Given the description of an element on the screen output the (x, y) to click on. 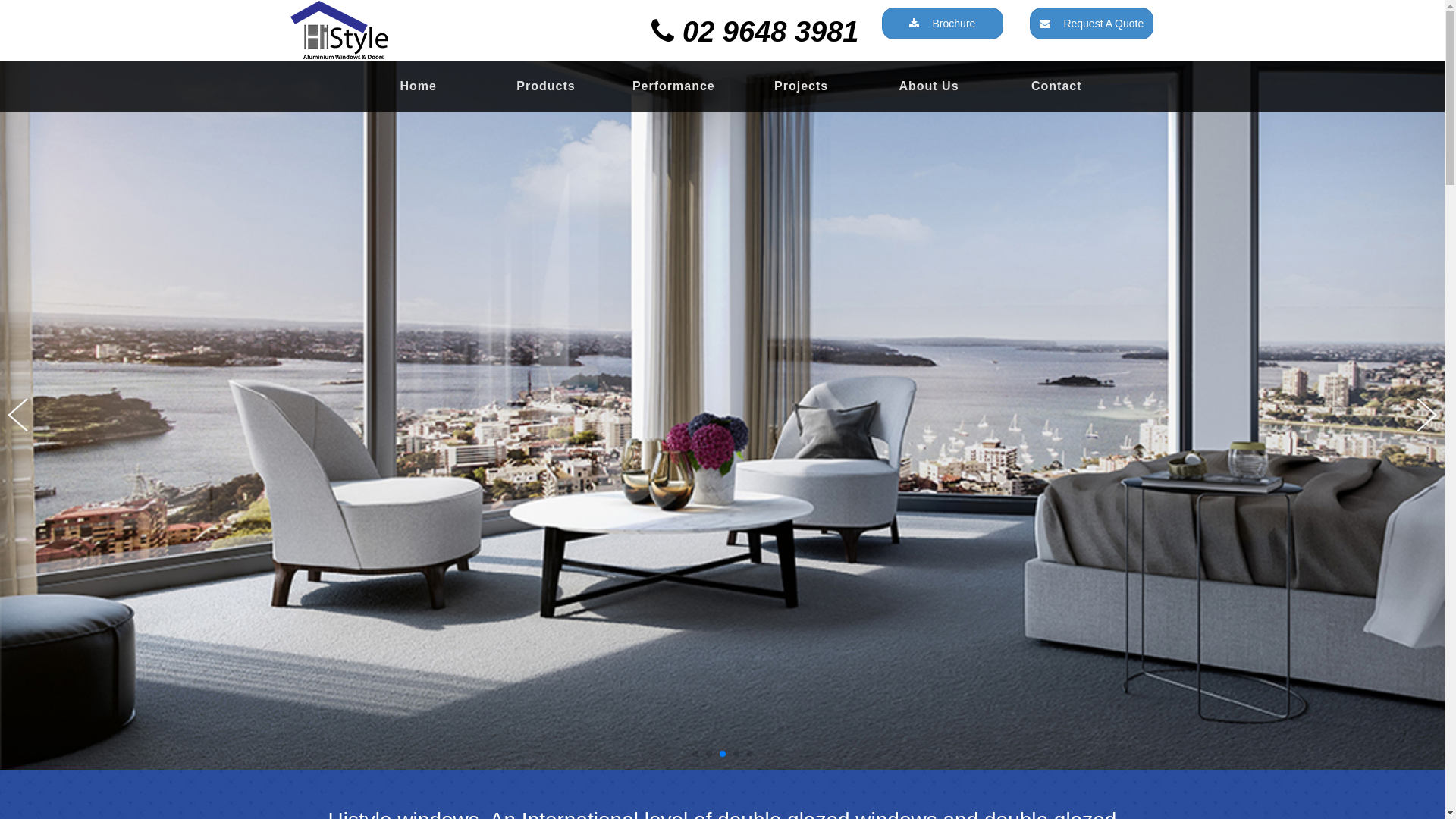
Projects Element type: text (800, 86)
Performance Element type: text (673, 86)
Brochure Element type: text (941, 23)
Home Element type: text (418, 86)
histylewindows Element type: hover (425, 30)
Contact Element type: text (1056, 86)
About Us Element type: text (928, 86)
Request A Quote Element type: text (1091, 23)
Products Element type: text (545, 86)
